Given the description of an element on the screen output the (x, y) to click on. 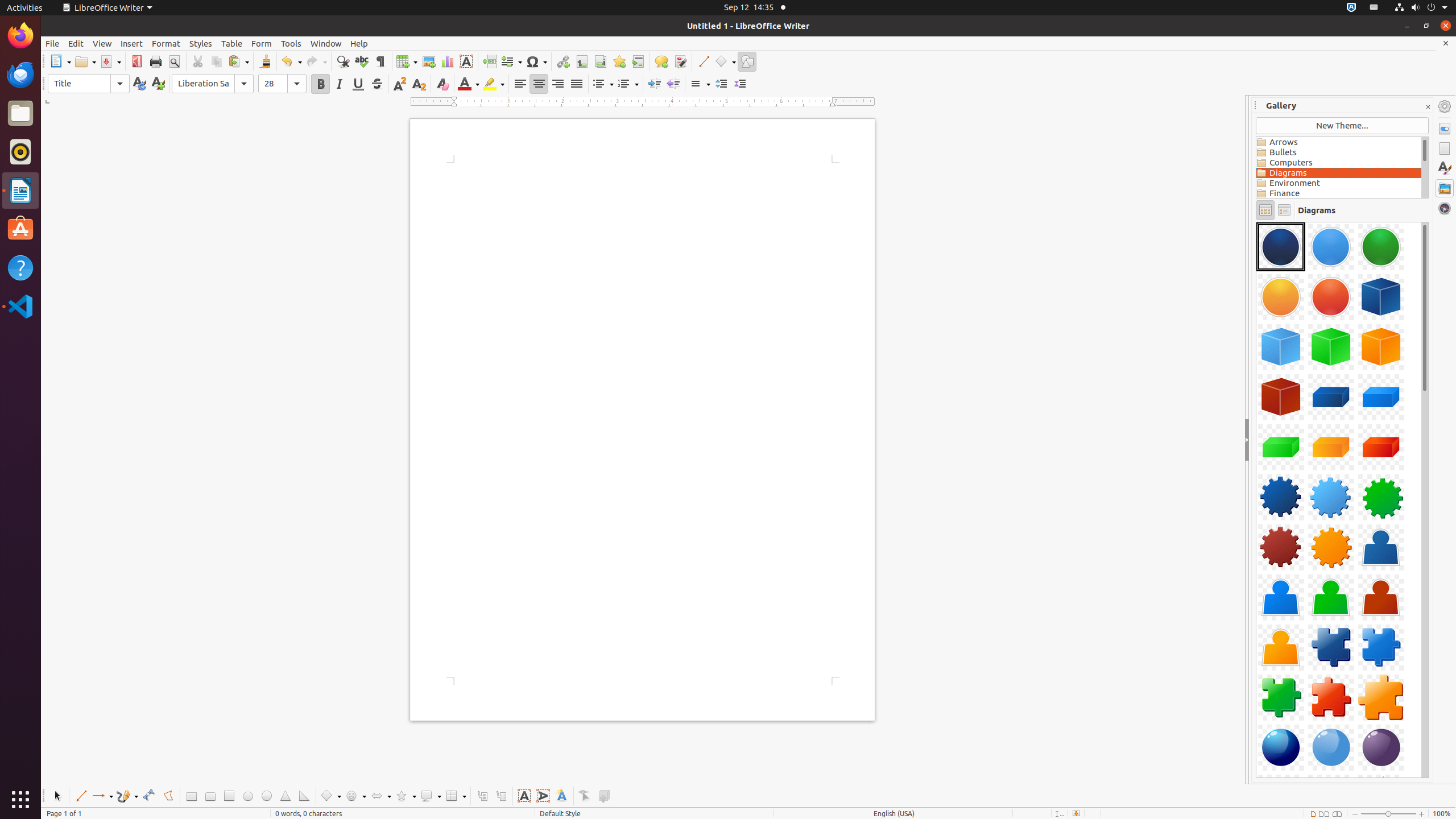
Right Element type: toggle-button (557, 83)
Environment Element type: list-item (1338, 183)
Diagrams Element type: list-item (1338, 172)
Insert Element type: menu (131, 43)
Footnote Element type: push-button (581, 61)
